Given the description of an element on the screen output the (x, y) to click on. 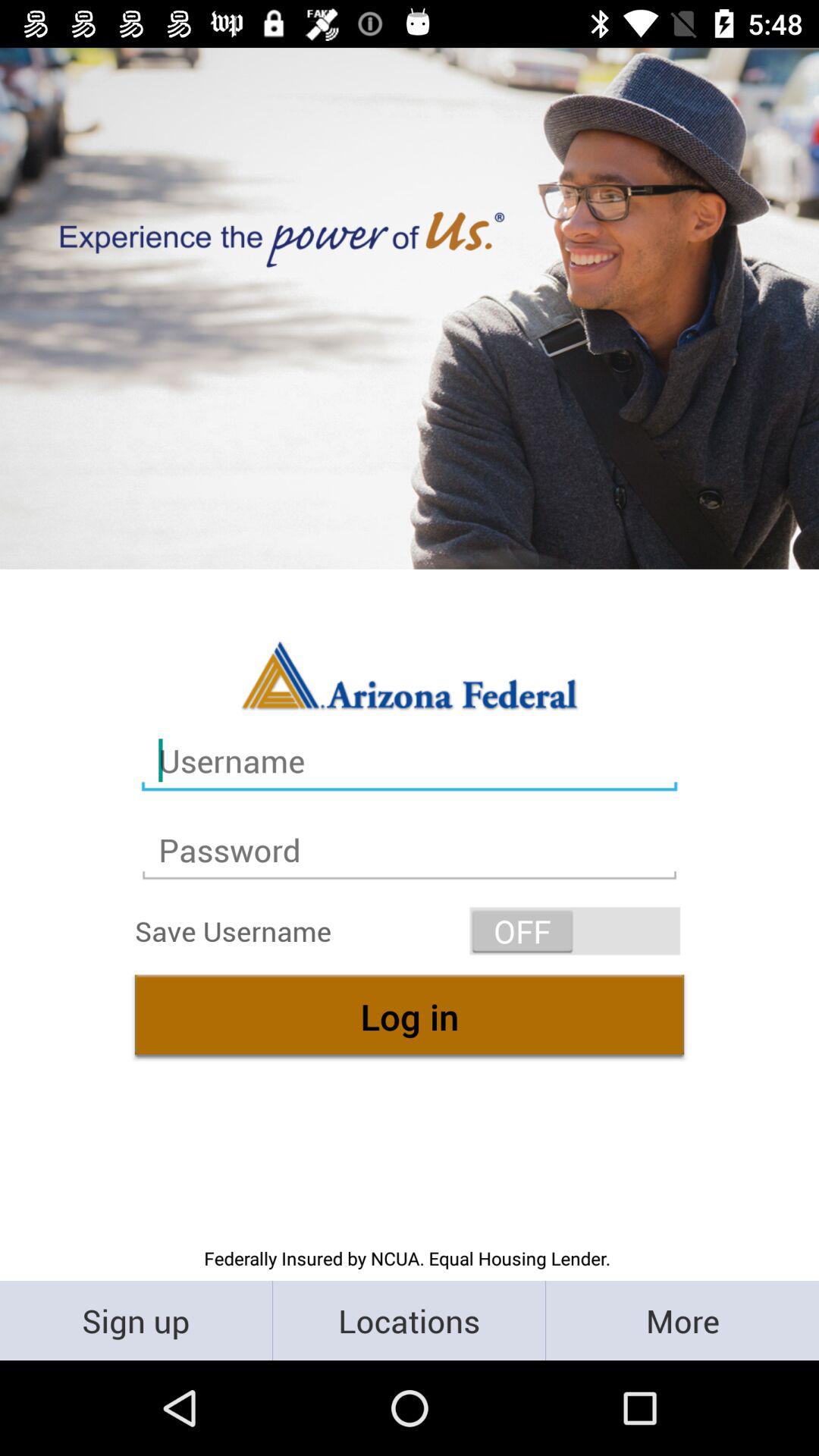
tap the icon to the right of save username icon (574, 930)
